Given the description of an element on the screen output the (x, y) to click on. 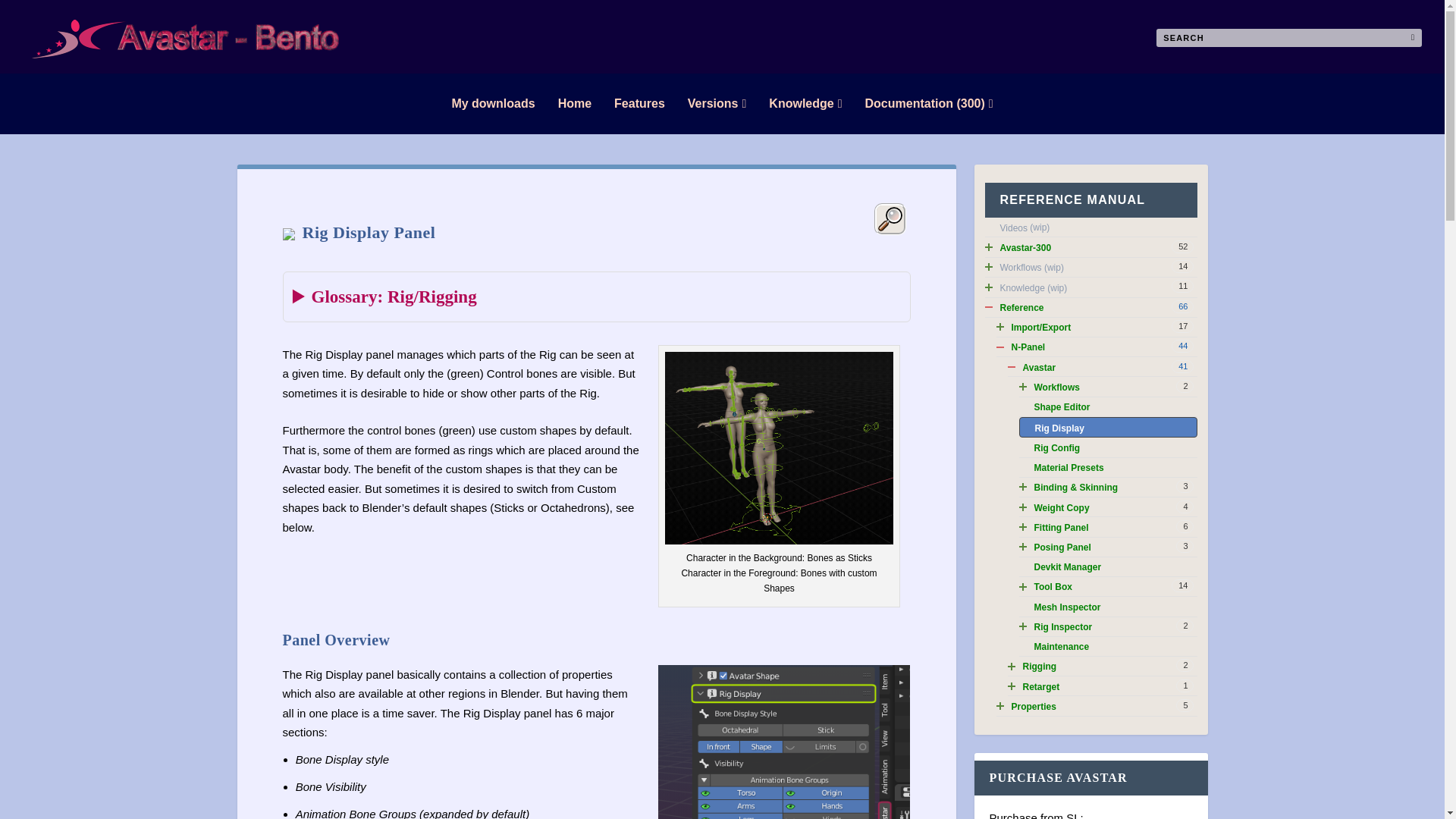
Versions (716, 103)
Search for: (1289, 37)
Knowledge (804, 103)
Click to open! (1090, 247)
My downloads (492, 103)
Click to open! (1090, 267)
